Given the description of an element on the screen output the (x, y) to click on. 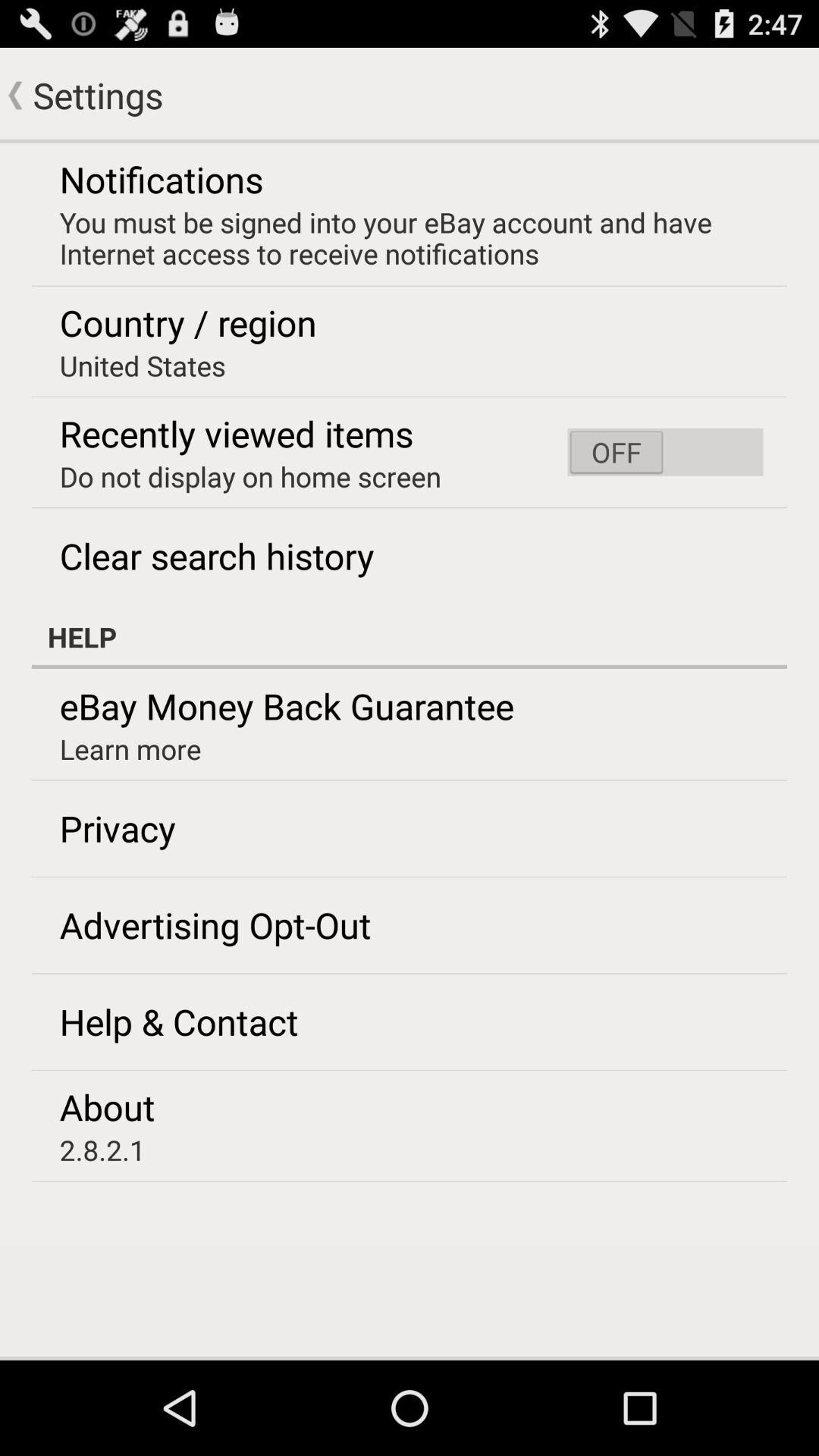
swipe to the about app (107, 1106)
